Given the description of an element on the screen output the (x, y) to click on. 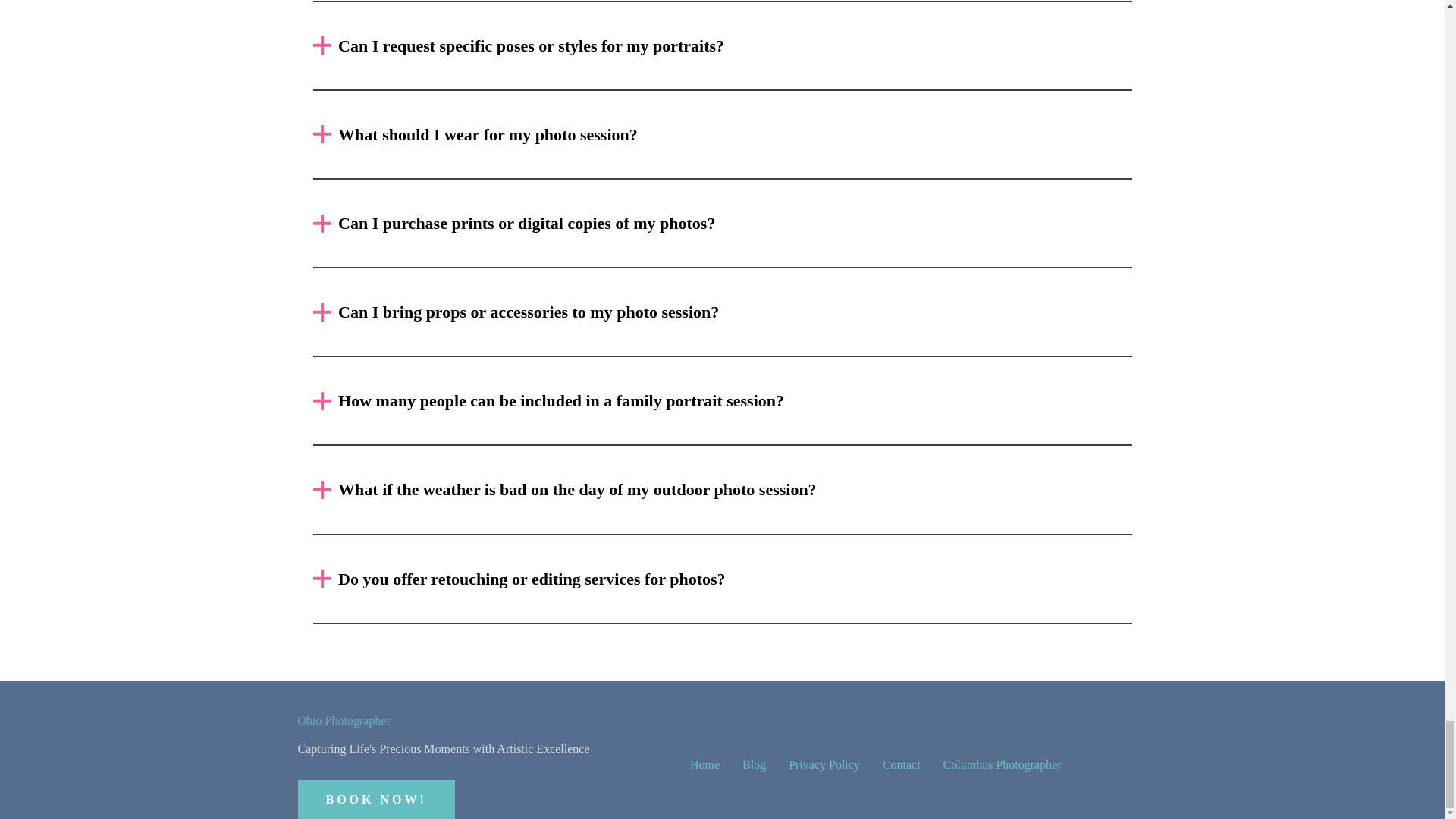
Contact (901, 764)
Ohio Photographer (343, 721)
Home (704, 764)
Privacy Policy (824, 764)
Blog (753, 764)
Columbus Photographer (1002, 764)
